Given the description of an element on the screen output the (x, y) to click on. 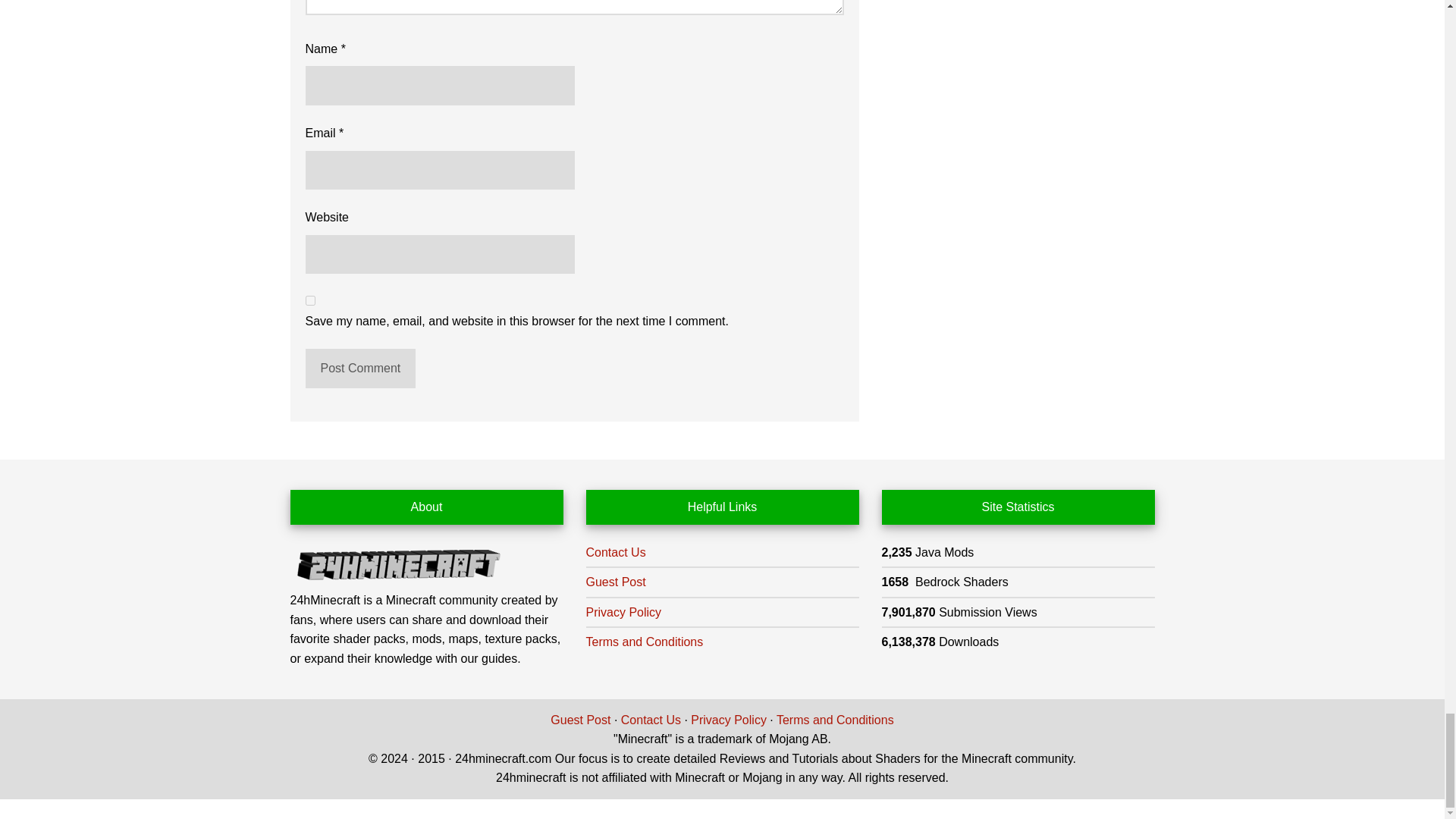
Post Comment (359, 368)
yes (309, 300)
